Given the description of an element on the screen output the (x, y) to click on. 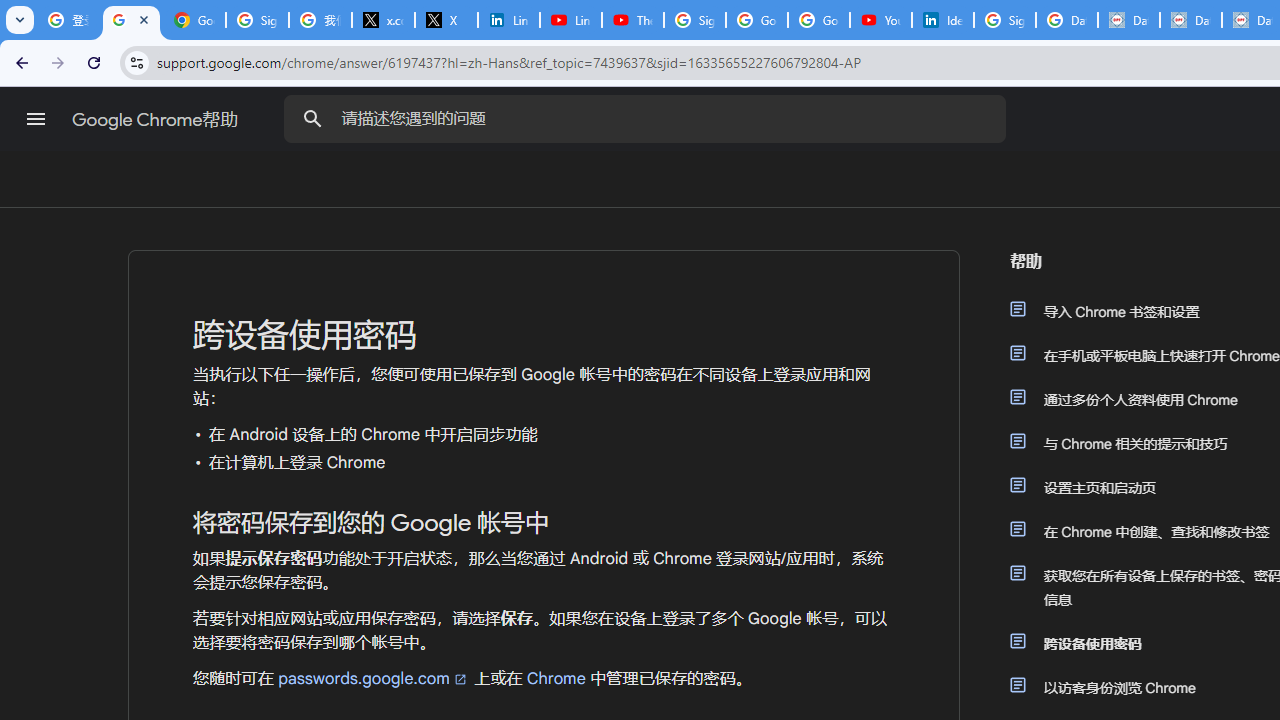
Data Privacy Framework (1190, 20)
Sign in - Google Accounts (257, 20)
LinkedIn - YouTube (570, 20)
